Given the description of an element on the screen output the (x, y) to click on. 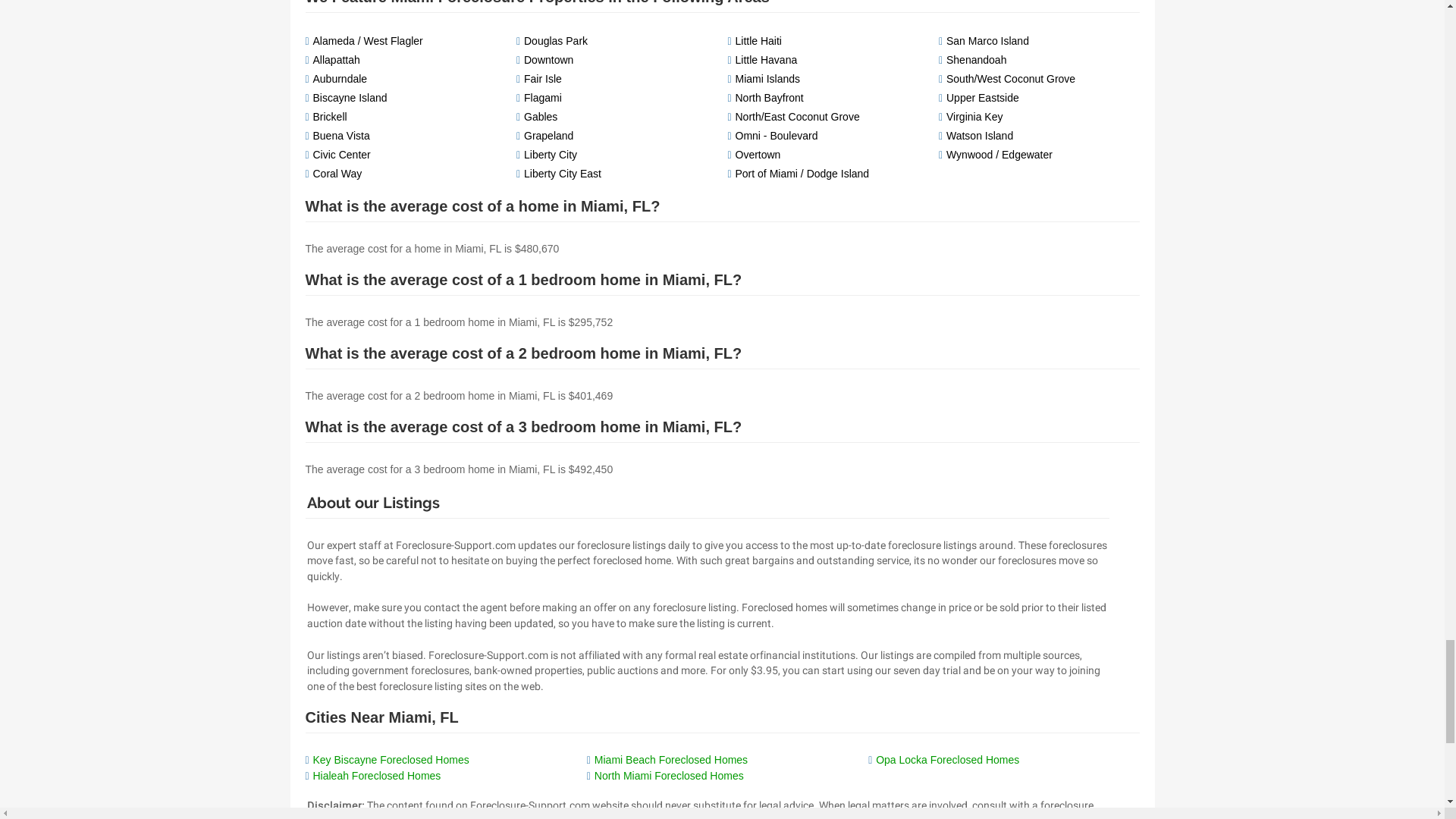
Hialeah (377, 775)
Opa Locka (947, 759)
Key Biscayne (390, 759)
Miami Beach (671, 759)
North Miami (669, 775)
